Given the description of an element on the screen output the (x, y) to click on. 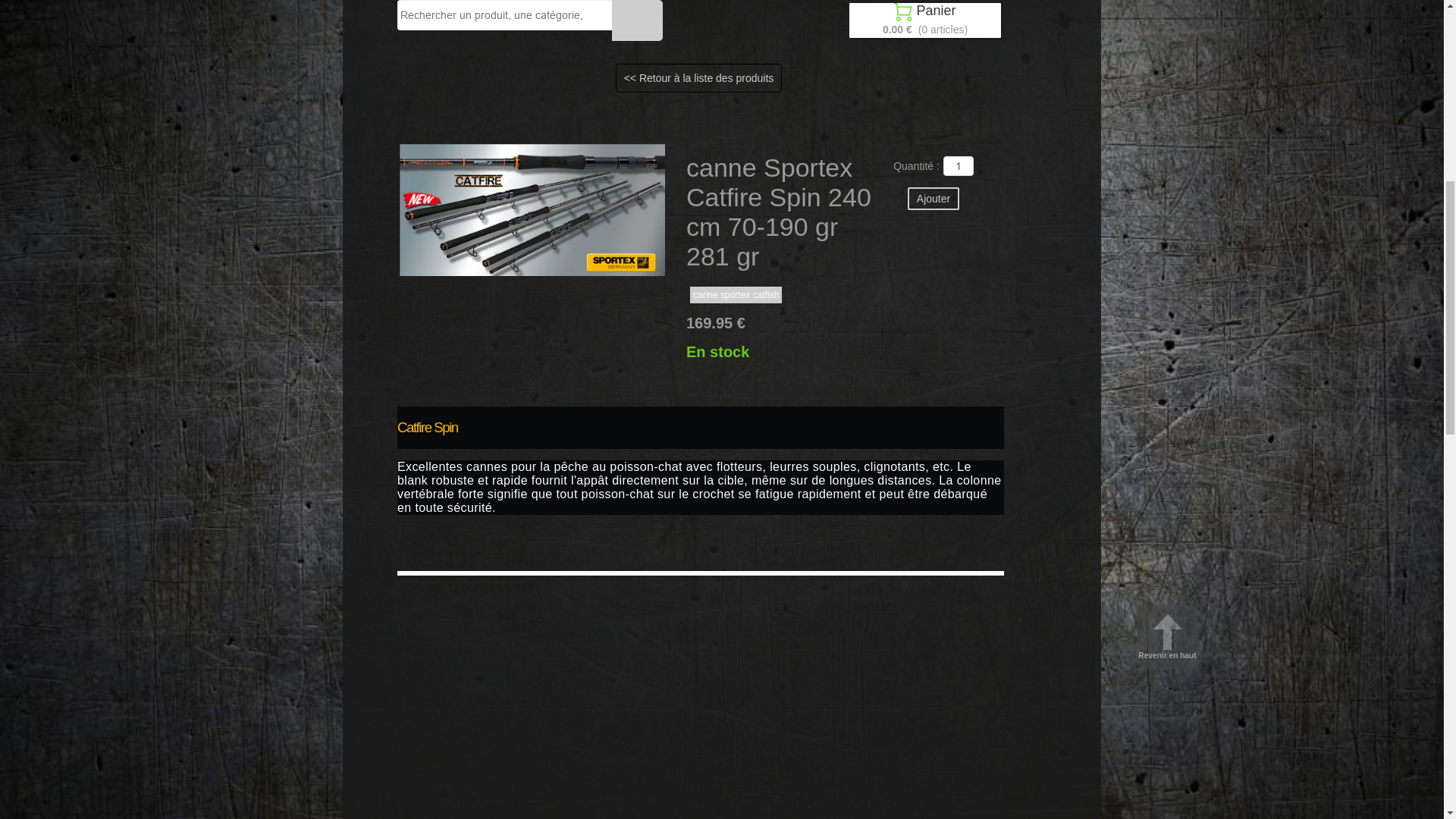
Spro Cresta 2021 Element type: text (777, 179)
st croix Element type: text (545, 179)
sensas Element type: text (856, 149)
Pezon&Michel Element type: text (750, 149)
Browning Element type: text (1056, 208)
Nash Element type: text (978, 179)
Guru 2021 Element type: text (922, 179)
CCMOORE Element type: text (523, 208)
Preston Element type: text (897, 208)
capture Element type: text (493, 179)
Ringers Element type: text (952, 149)
Dam Element type: text (674, 237)
Penn Element type: text (586, 149)
Maver Element type: text (649, 179)
Mepps Element type: text (382, 179)
Amiaud Element type: text (597, 179)
Illex Element type: text (810, 149)
Daiwa Element type: text (719, 237)
Sportex Element type: text (951, 208)
Prologic Element type: text (460, 208)
suite 3 Element type: text (486, 149)
Savage gear Element type: text (395, 208)
Reins Element type: text (1023, 179)
Sakura Element type: text (635, 149)
suite 2 Element type: text (437, 149)
Imax Element type: text (903, 149)
Carp Spirit Element type: text (856, 179)
Amorce Element type: text (586, 208)
Matrix Element type: text (845, 208)
arca Bifa Element type: text (437, 179)
Accueil Element type: text (386, 149)
Middy Element type: text (1002, 208)
fox rage Element type: text (701, 179)
Cormoran Element type: text (1010, 149)
JMC Element type: text (1063, 149)
Garbolino Element type: text (791, 208)
Gunky Element type: text (685, 149)
Rive Element type: text (1067, 179)
fun fishing Element type: text (727, 208)
berkley Element type: text (538, 149)
Middy Element type: text (767, 237)
fox carpe suite Element type: text (654, 208)
